Given the description of an element on the screen output the (x, y) to click on. 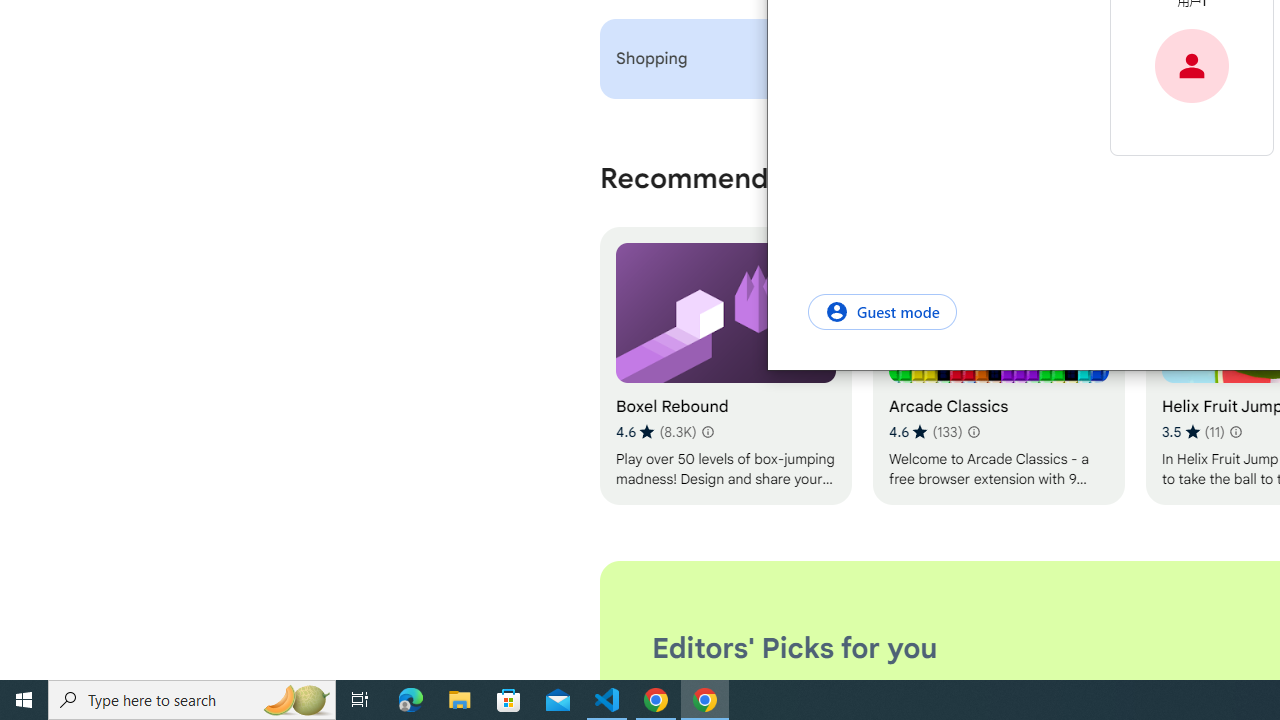
Google Chrome - 1 running window (704, 699)
Search highlights icon opens search home window (295, 699)
Average rating 4.6 out of 5 stars. 133 ratings. (925, 431)
Learn more about results and reviews "Arcade Classics" (972, 431)
File Explorer (460, 699)
Microsoft Edge (411, 699)
Average rating 4.6 out of 5 stars. 8.3K ratings. (655, 431)
Guest mode (882, 311)
Visual Studio Code - 1 running window (607, 699)
Learn more about results and reviews "Boxel Rebound" (707, 431)
Start (24, 699)
Microsoft Store (509, 699)
